Given the description of an element on the screen output the (x, y) to click on. 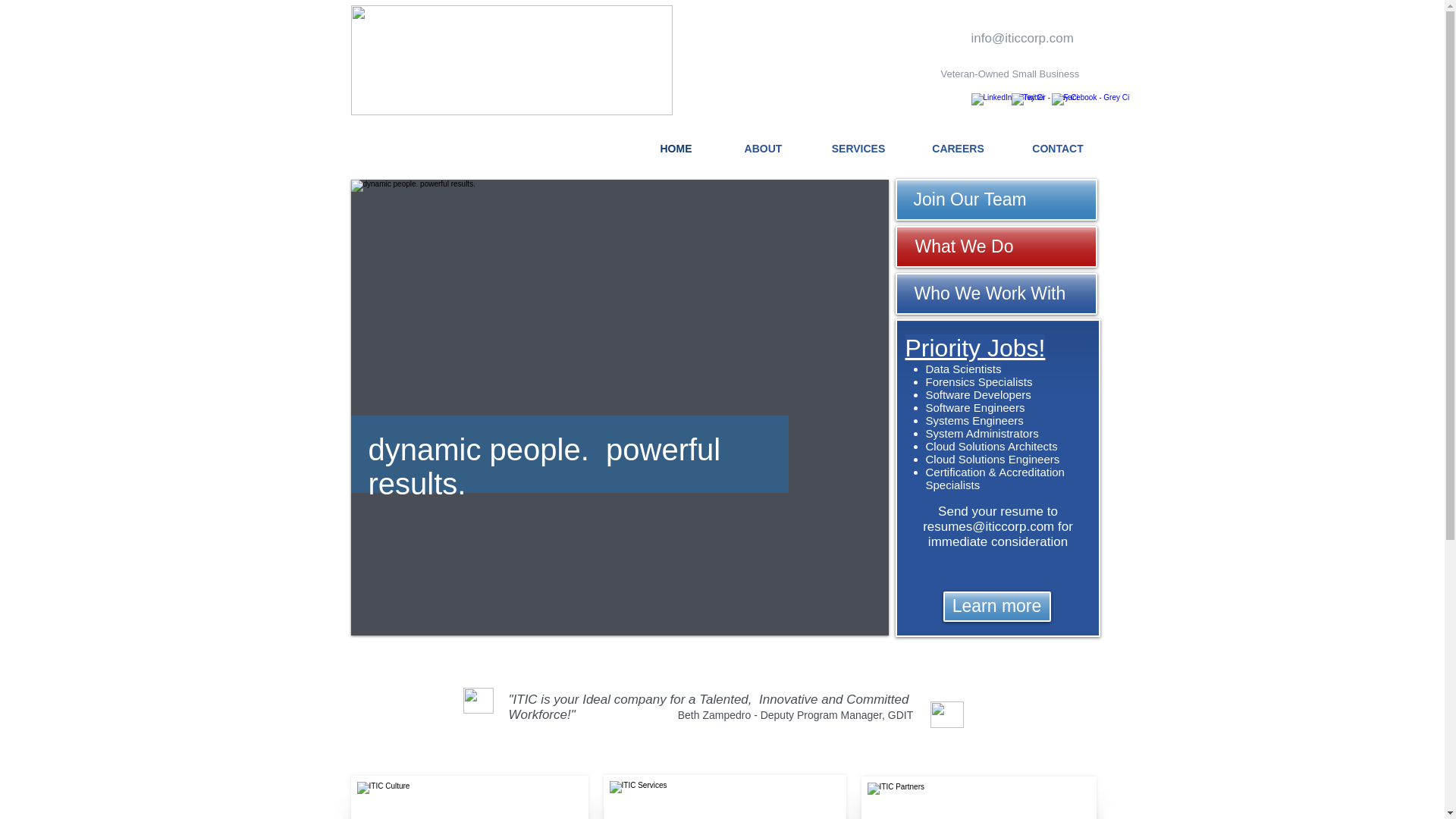
ABOUT (763, 148)
CONTACT (1057, 148)
CAREERS (957, 148)
Who We Work With (995, 293)
HOME (676, 148)
What We Do (995, 246)
SERVICES (858, 148)
Learn more (997, 606)
Join Our Team (995, 199)
